Given the description of an element on the screen output the (x, y) to click on. 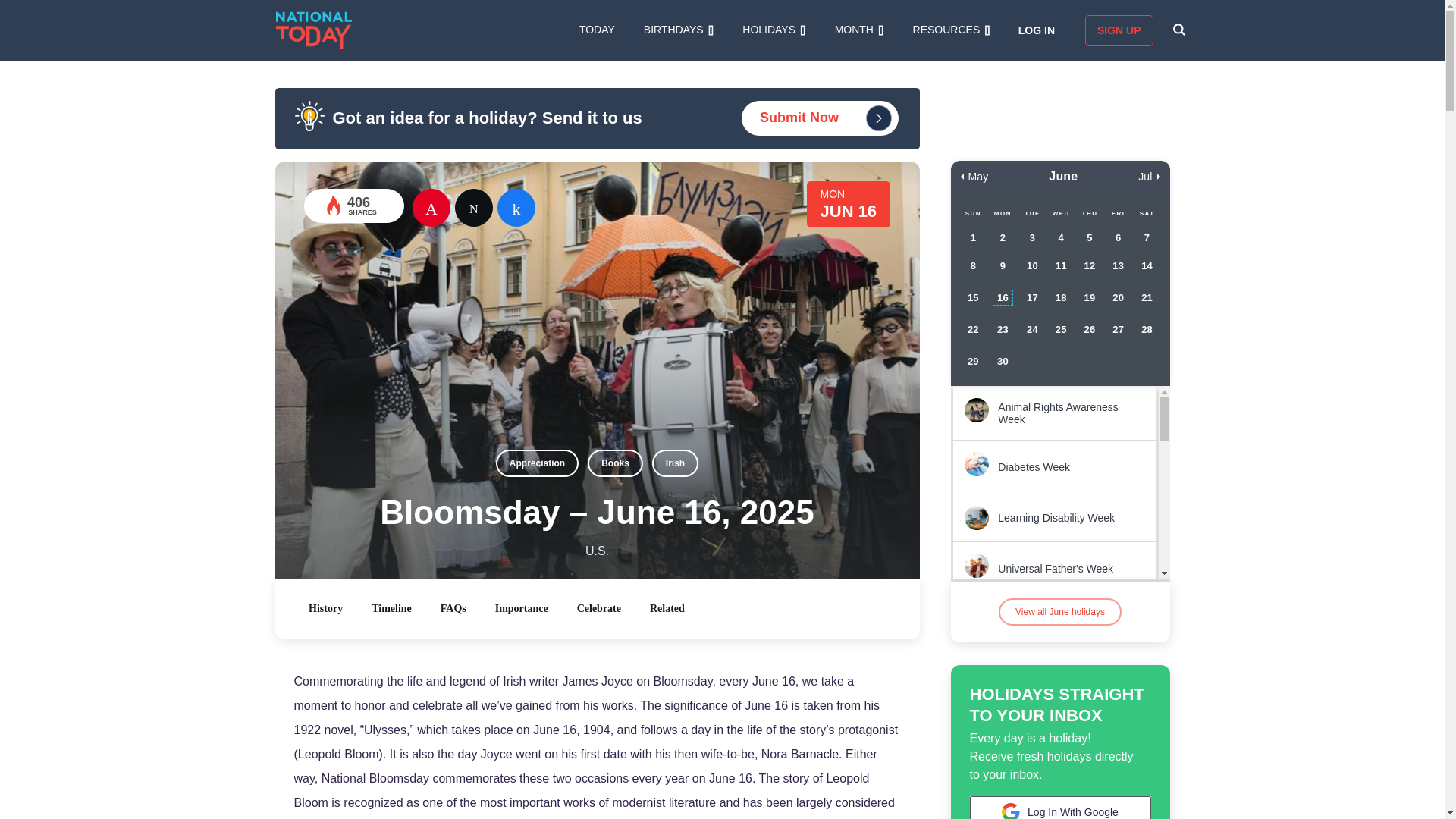
BIRTHDAYS (678, 29)
National Today (314, 30)
Friday (1118, 213)
Sunday (973, 213)
TODAY (596, 29)
National Today (314, 30)
Saturday (1147, 213)
HOLIDAYS (773, 29)
Thursday (1089, 213)
Monday (1002, 213)
